Given the description of an element on the screen output the (x, y) to click on. 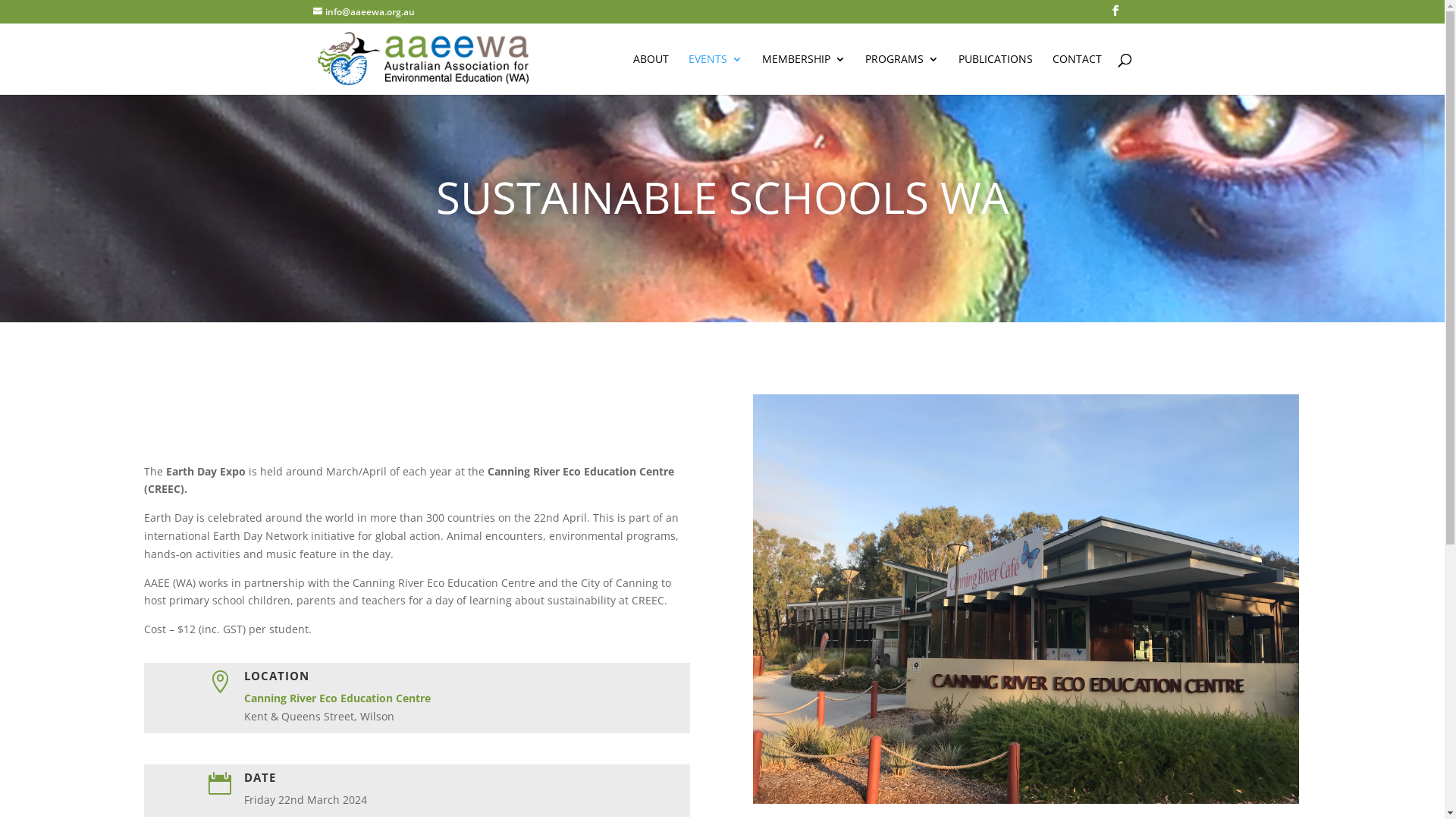
CREEC Element type: hover (1025, 598)
info@aaeewa.org.au Element type: text (363, 11)
Canning River Eco Education Centre Element type: text (337, 697)
PROGRAMS Element type: text (901, 73)
PUBLICATIONS Element type: text (995, 73)
ABOUT Element type: text (650, 73)
EVENTS Element type: text (715, 73)
CONTACT Element type: text (1076, 73)
MEMBERSHIP Element type: text (802, 73)
